Given the description of an element on the screen output the (x, y) to click on. 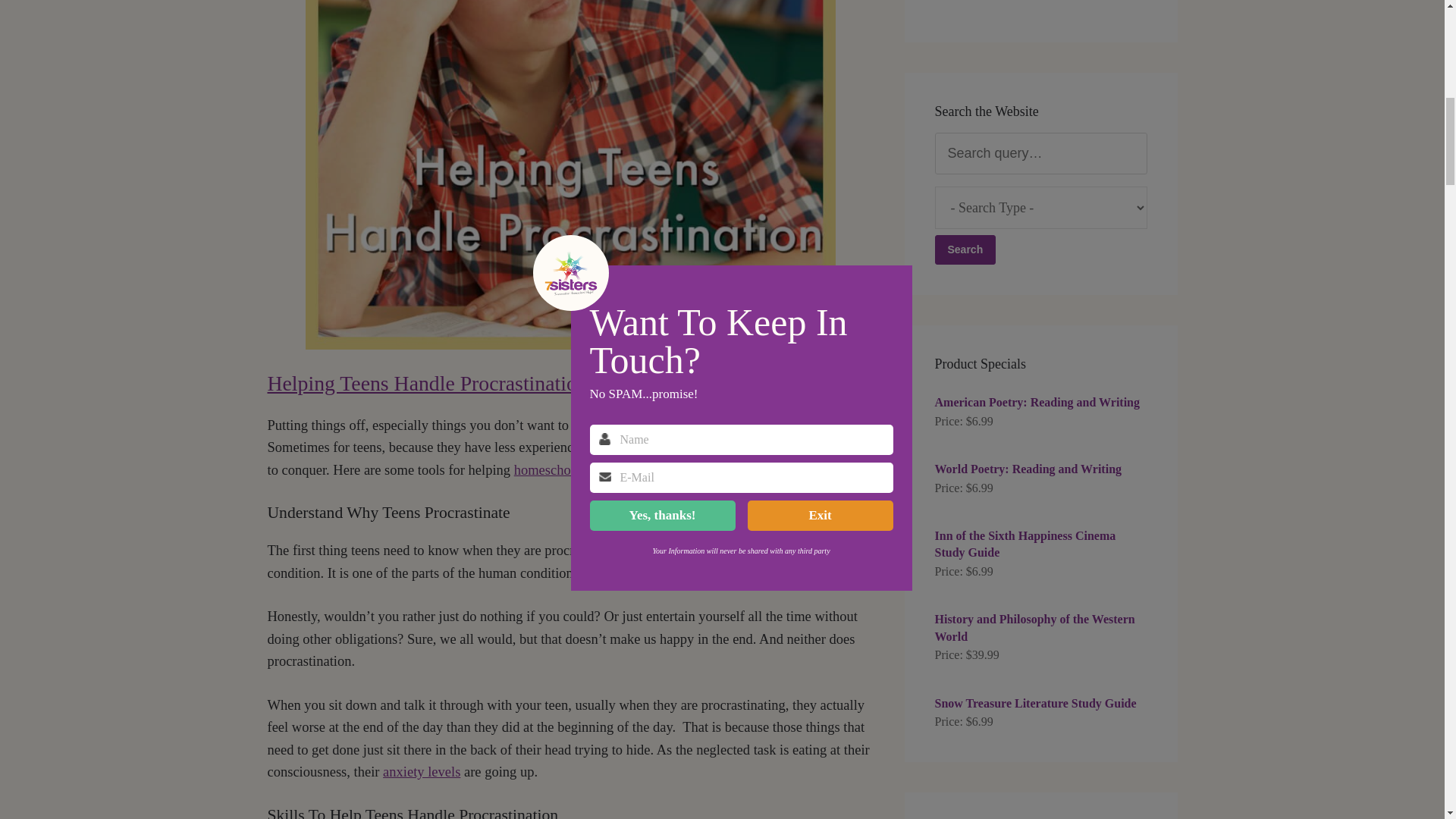
Permanent Link to Snow Treasure Literature Study Guide (1040, 703)
Permanent Link to American Poetry: Reading and Writing (1040, 402)
Search (964, 249)
Permanent Link to World Poetry: Reading and Writing (1040, 469)
